Given the description of an element on the screen output the (x, y) to click on. 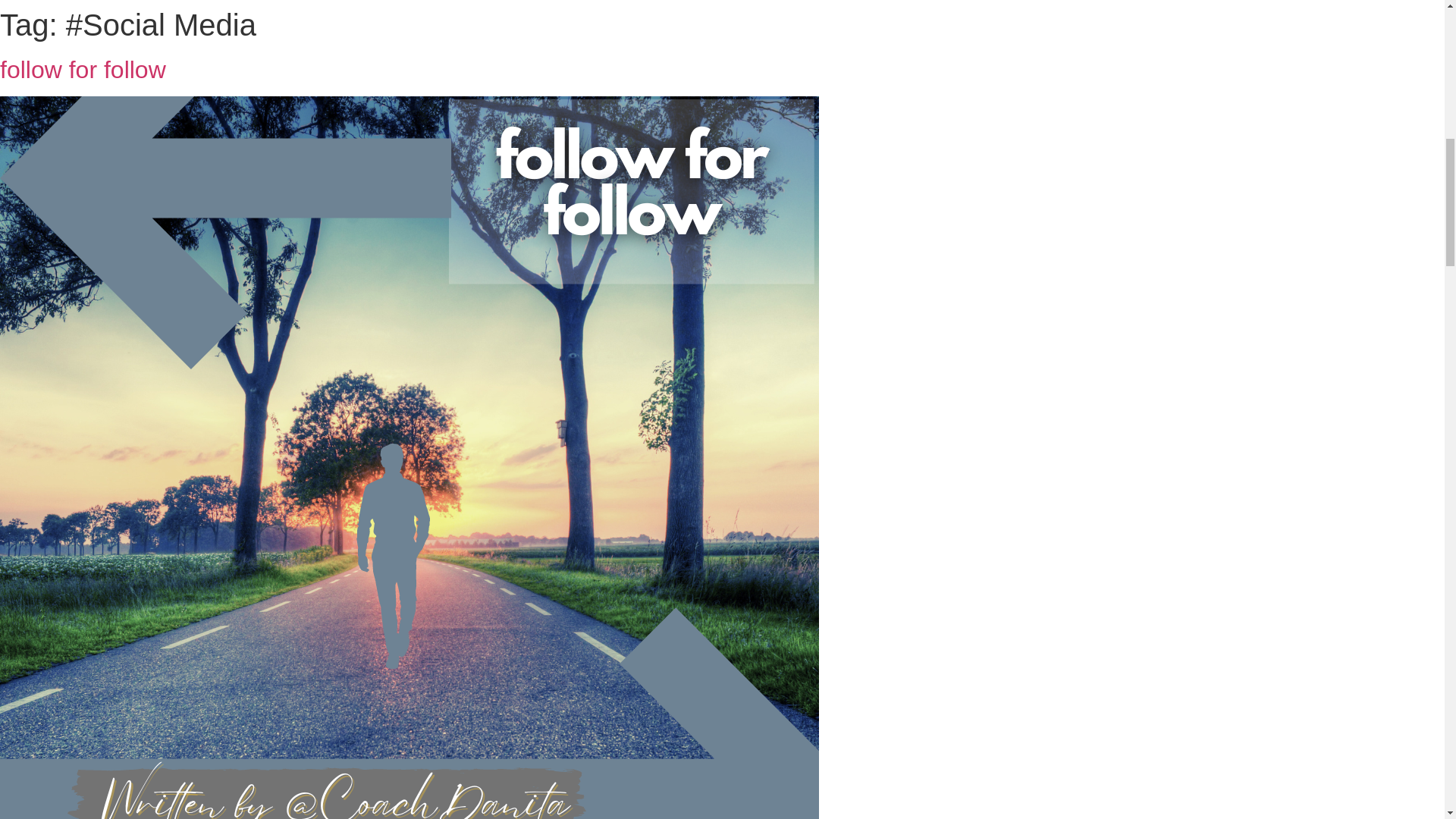
follow for follow (82, 69)
